Given the description of an element on the screen output the (x, y) to click on. 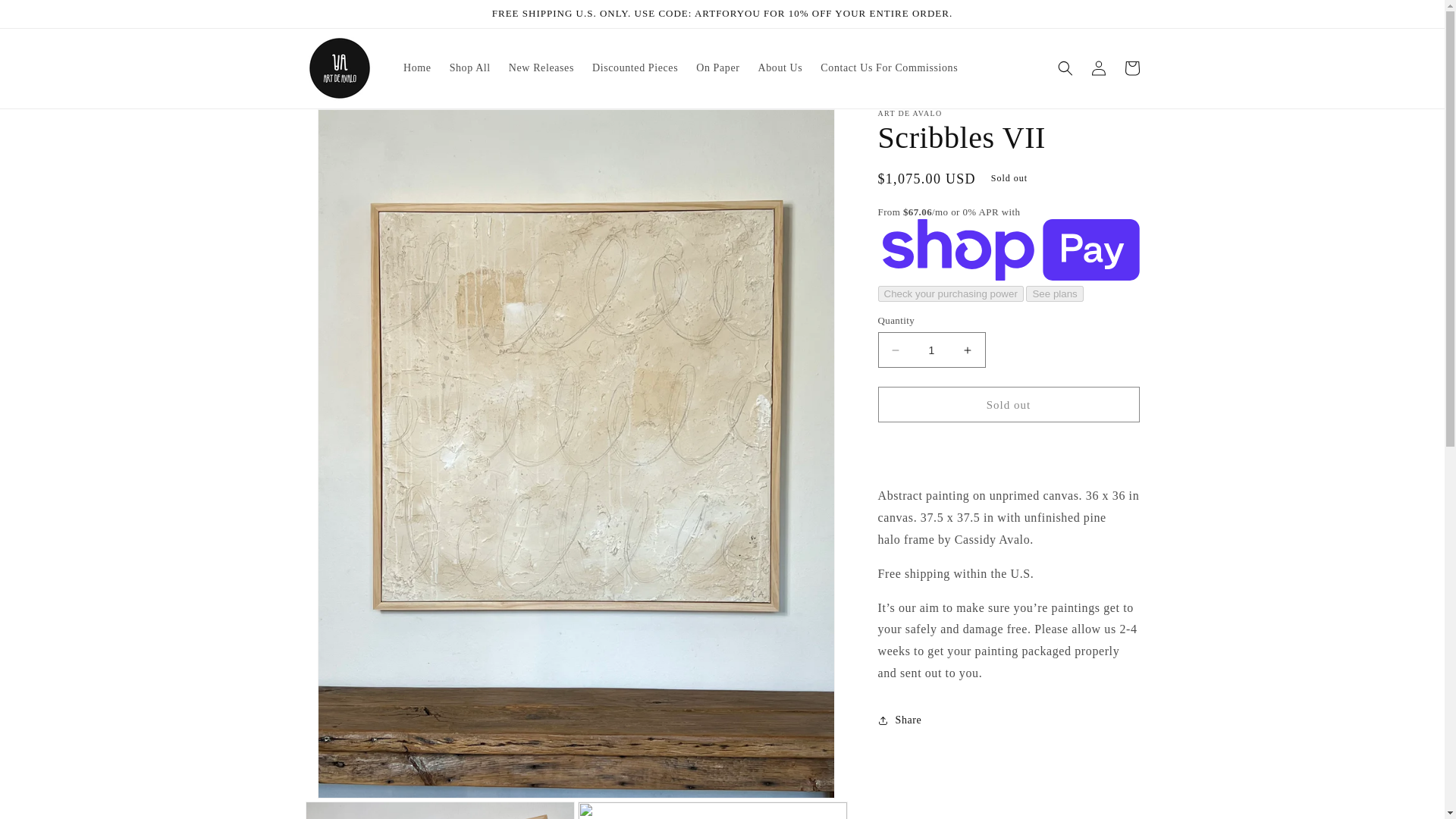
Cart (1131, 68)
Discounted Pieces (635, 68)
Skip to content (45, 17)
Sold out (1008, 404)
1 (931, 349)
Skip to product information (350, 126)
Increase quantity for Scribbles VII (967, 349)
New Releases (541, 68)
Contact Us For Commissions (888, 68)
About Us (780, 68)
